Given the description of an element on the screen output the (x, y) to click on. 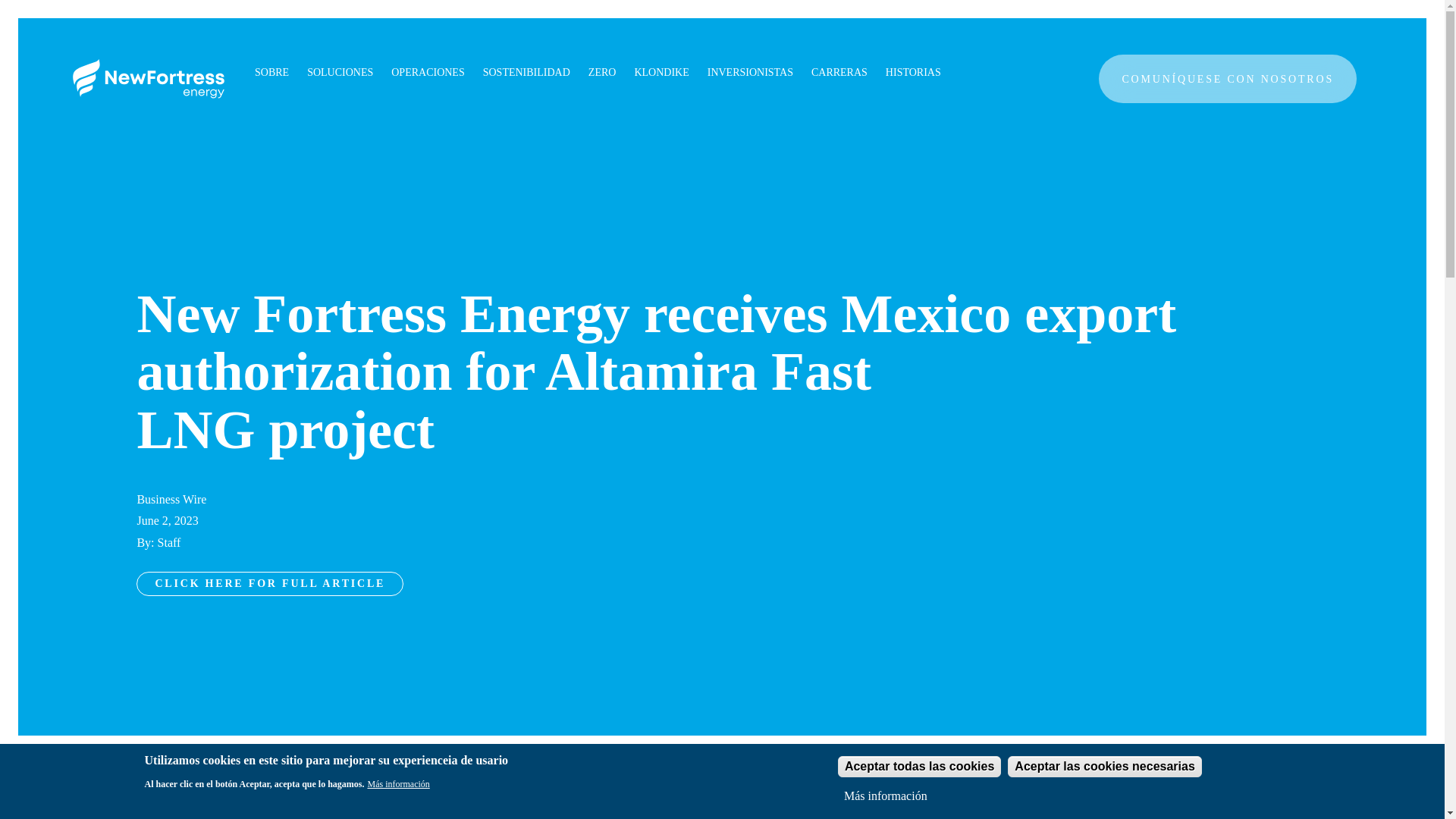
ZERO (601, 72)
EMAIL ALERTS (762, 92)
GMLP (735, 92)
HISTORIAS (912, 72)
GOVERNANCE HIGHLIGHTS (982, 92)
OVERVIEW (751, 92)
BOARD OF DIRECTORS (967, 92)
ESG (730, 92)
CARRERAS (838, 72)
SOBRE (271, 72)
SOLUCIONES (339, 72)
OPERACIONES (427, 72)
COMMITTEE COMPOSITION (981, 92)
CLICK HERE FOR FULL ARTICLE (269, 583)
Back to New Fortress homepage (148, 78)
